Given the description of an element on the screen output the (x, y) to click on. 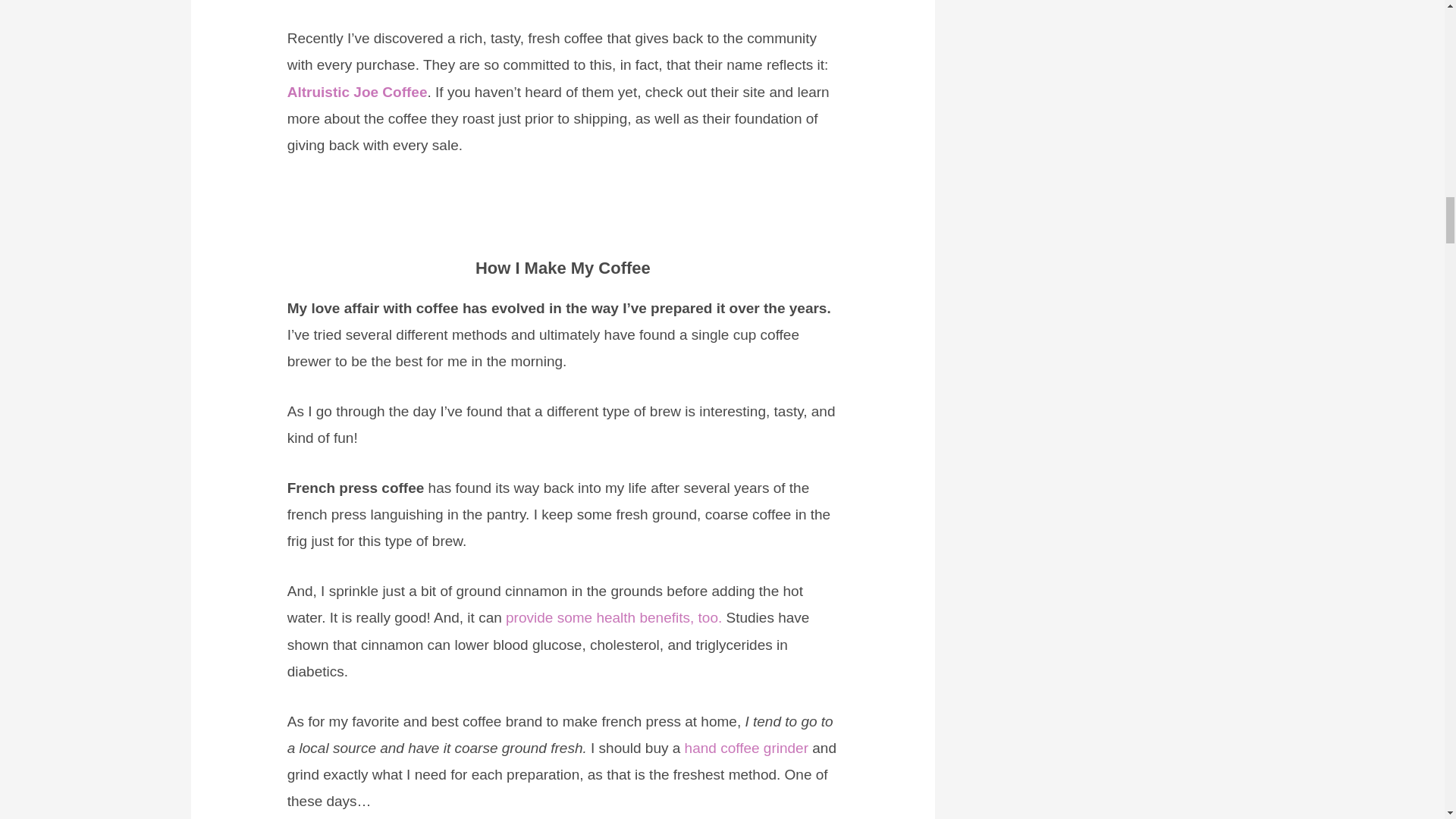
Altruistic Joe Coffee (357, 91)
provide some health benefits, too. (613, 617)
hand coffee grinder (746, 747)
